Given the description of an element on the screen output the (x, y) to click on. 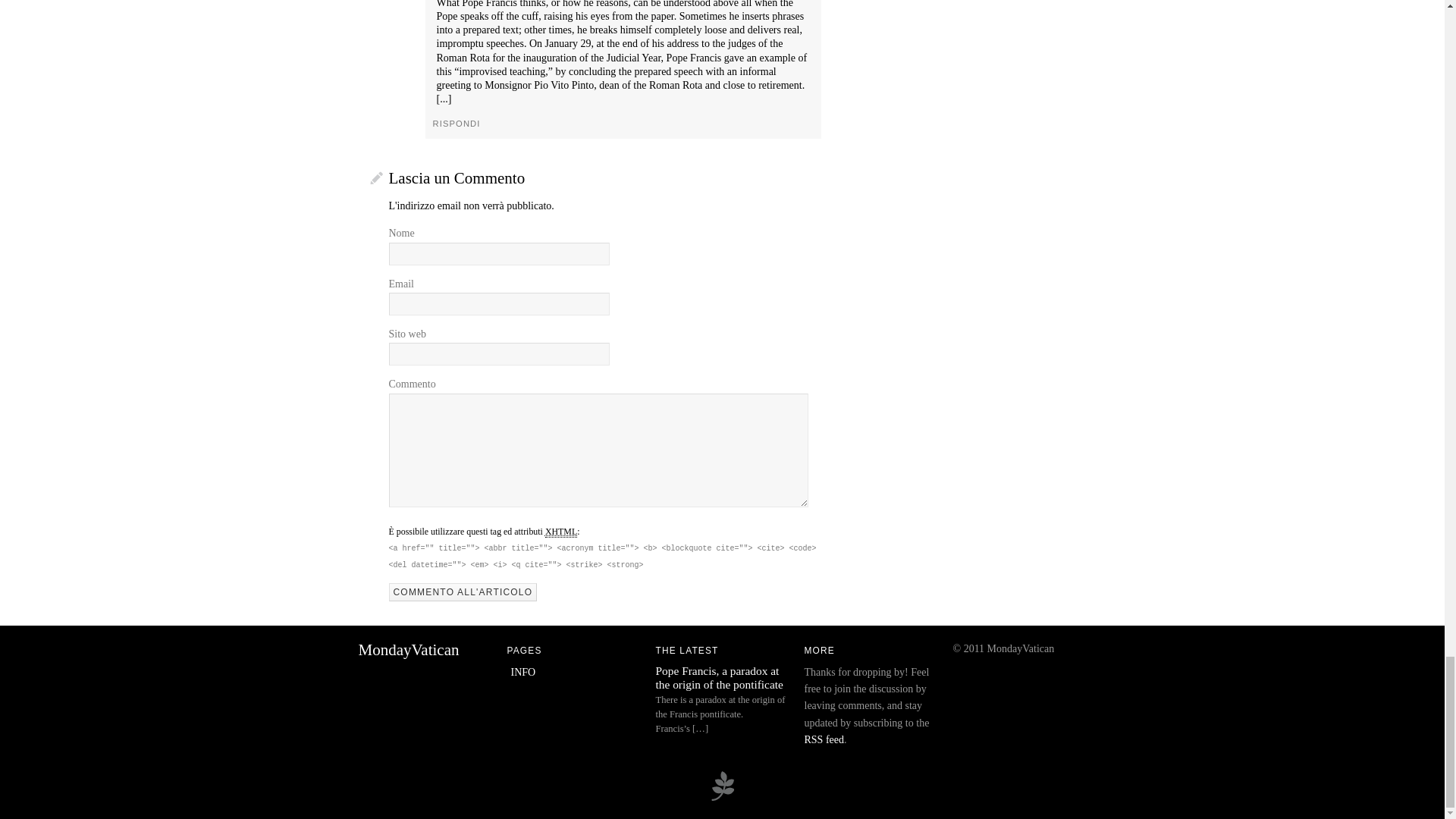
Commento all'articolo (462, 592)
eXtensible HyperText Markup Language (560, 531)
Commento all'articolo (462, 592)
RISPONDI (456, 122)
